Given the description of an element on the screen output the (x, y) to click on. 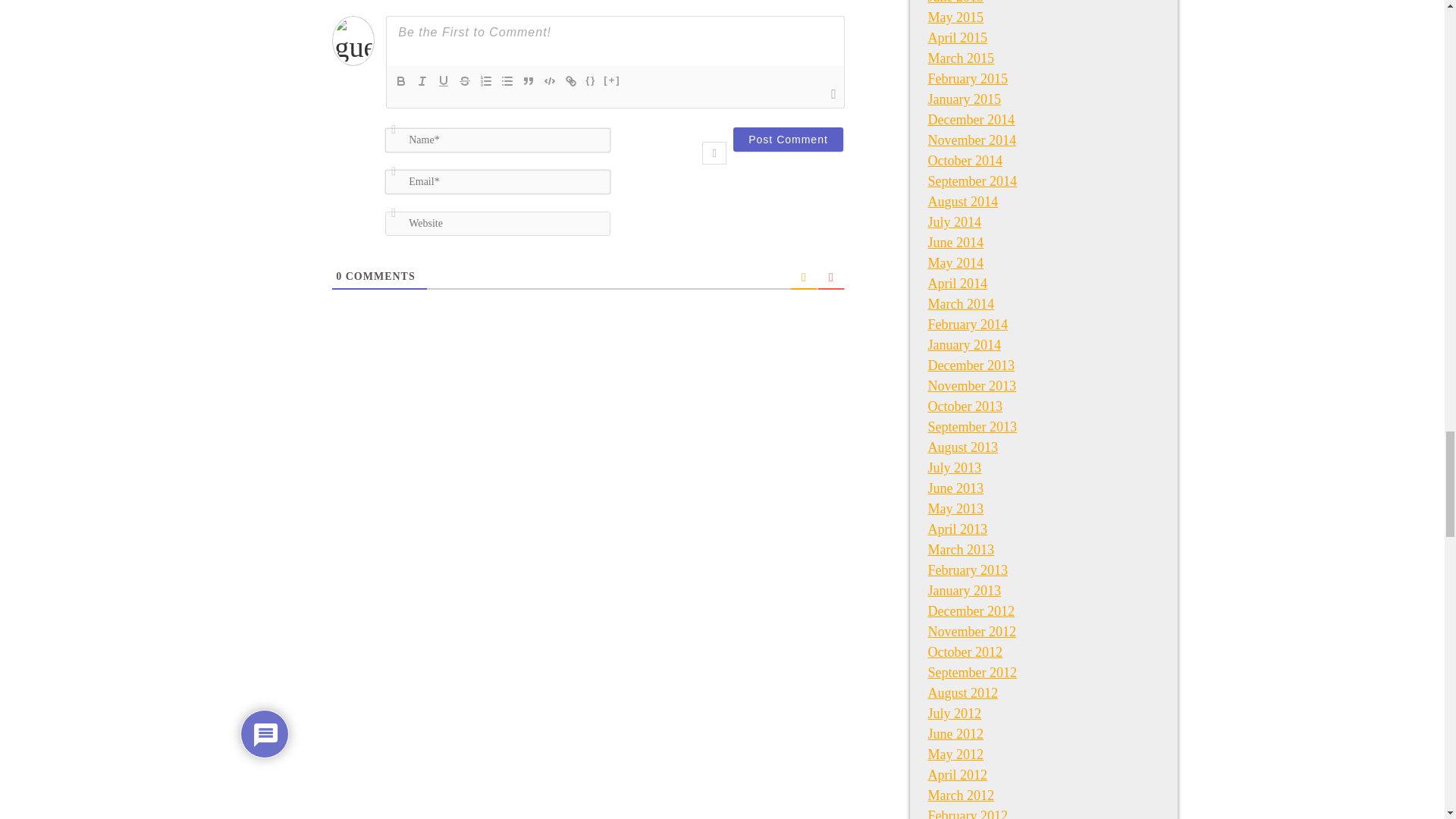
Spoiler (611, 81)
Link (570, 81)
Strike (465, 81)
Ordered List (486, 81)
Code Block (549, 81)
Italic (422, 81)
Bold (401, 81)
Post Comment (788, 139)
Unordered List (507, 81)
Blockquote (528, 81)
Source Code (589, 81)
Underline (443, 81)
